Given the description of an element on the screen output the (x, y) to click on. 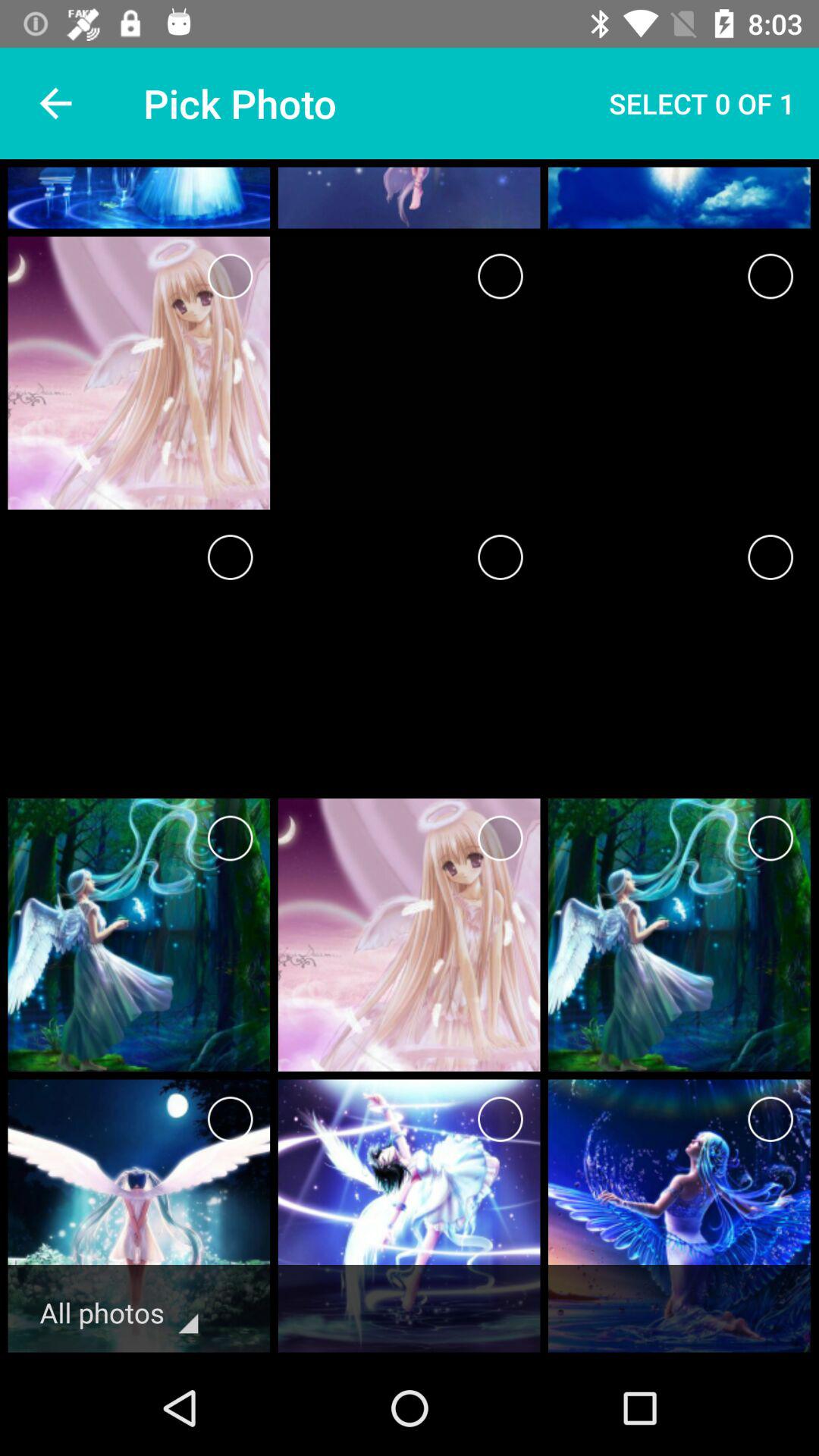
choose this icon (770, 1119)
